Given the description of an element on the screen output the (x, y) to click on. 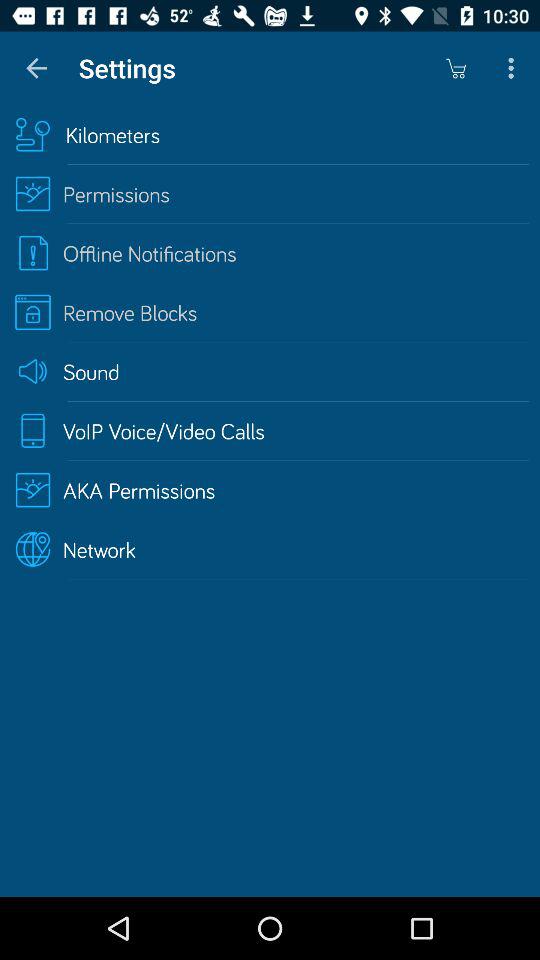
press the icon above the kilometers item (513, 67)
